Given the description of an element on the screen output the (x, y) to click on. 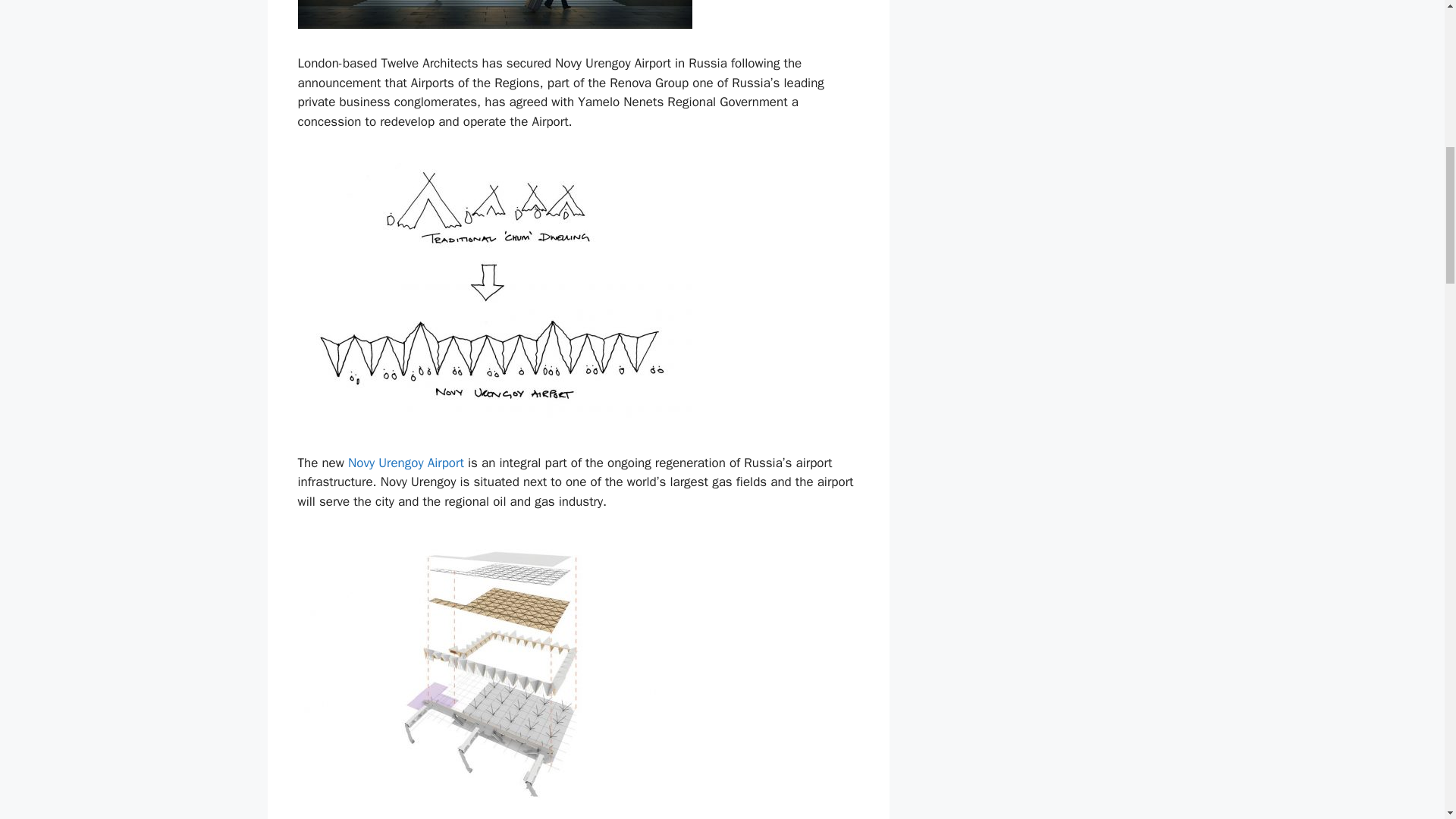
Scroll back to top (1406, 720)
Novy Urengoy Airport (405, 462)
